Given the description of an element on the screen output the (x, y) to click on. 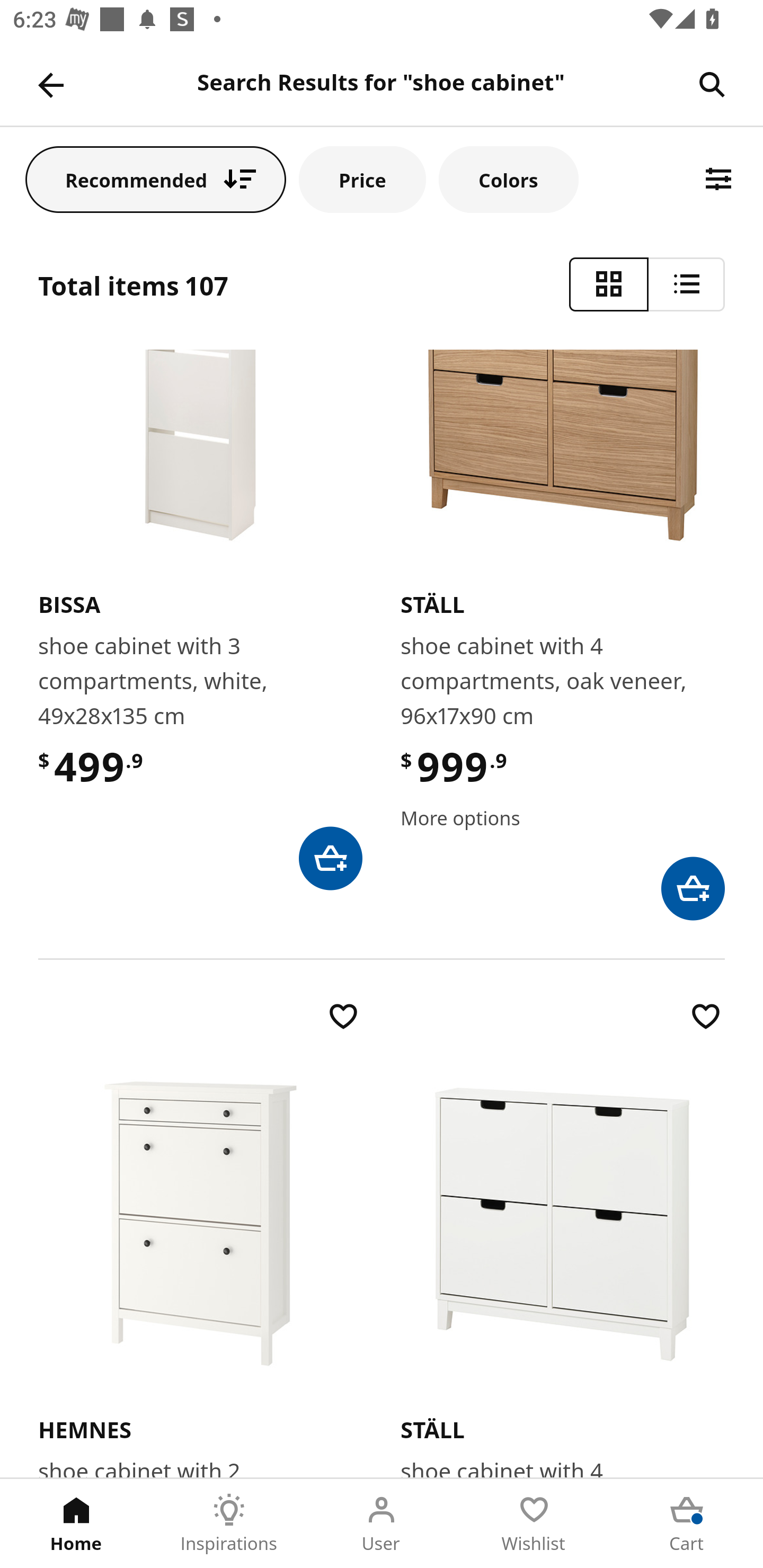
Recommended (155, 179)
Price (362, 179)
Colors (508, 179)
Home
Tab 1 of 5 (76, 1522)
Inspirations
Tab 2 of 5 (228, 1522)
User
Tab 3 of 5 (381, 1522)
Wishlist
Tab 4 of 5 (533, 1522)
Cart
Tab 5 of 5 (686, 1522)
